Given the description of an element on the screen output the (x, y) to click on. 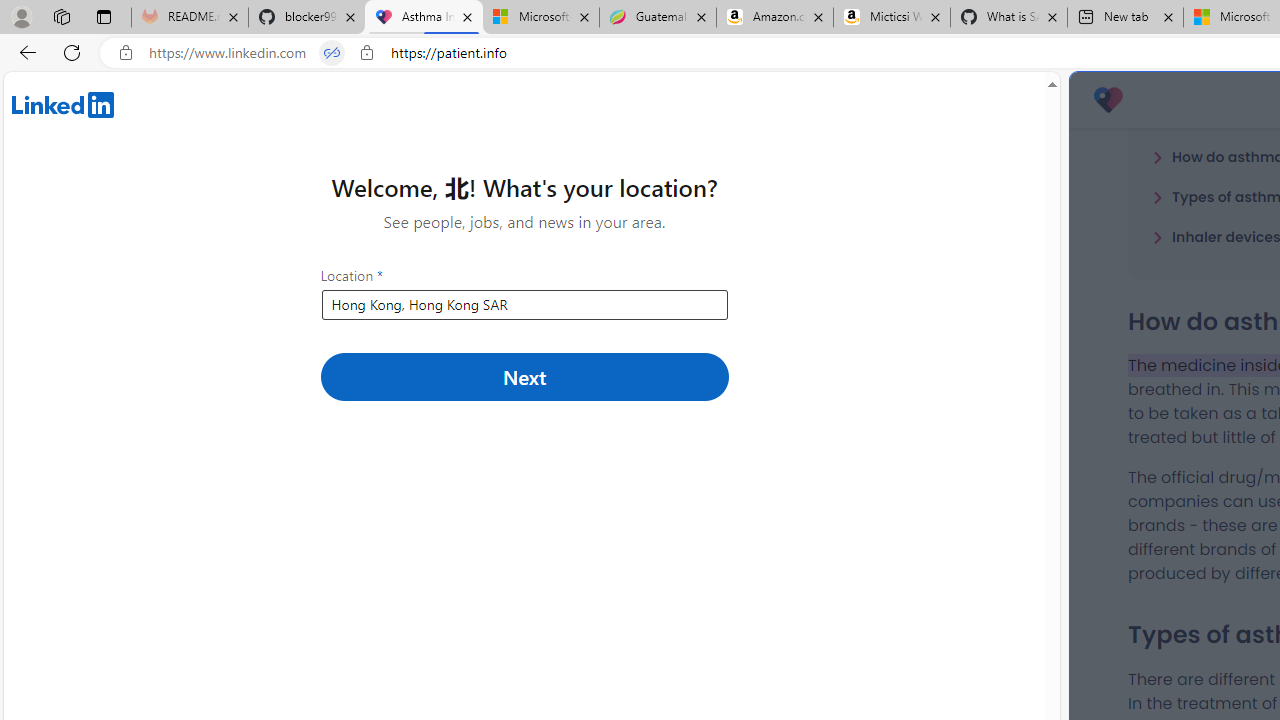
Patient 3.0 (1108, 100)
Tabs in split screen (331, 53)
